Given the description of an element on the screen output the (x, y) to click on. 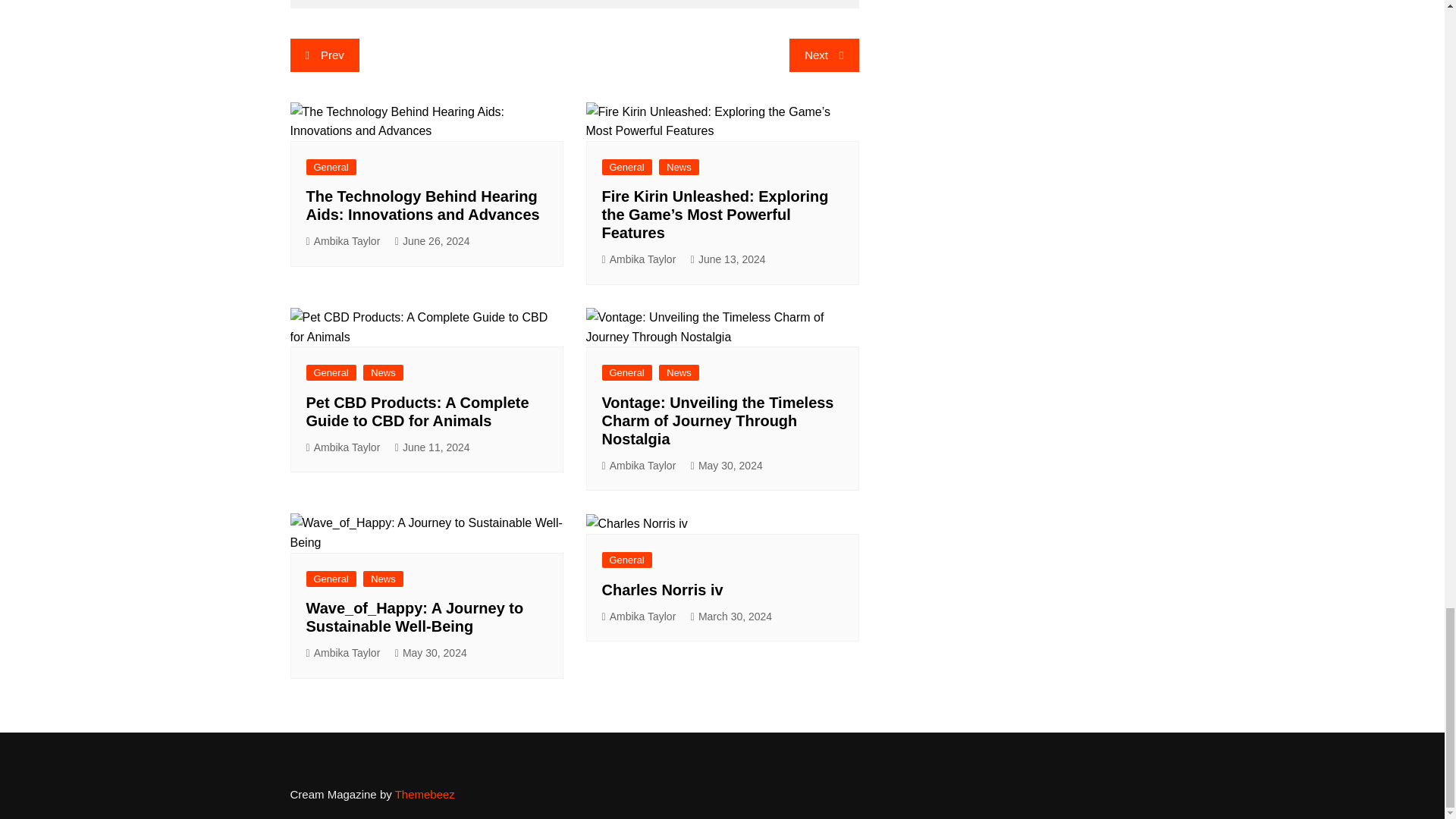
Prev (323, 55)
June 26, 2024 (432, 241)
General (330, 166)
Ambika Taylor (342, 241)
The Technology Behind Hearing Aids: Innovations and Advances (422, 205)
Next (824, 55)
